Given the description of an element on the screen output the (x, y) to click on. 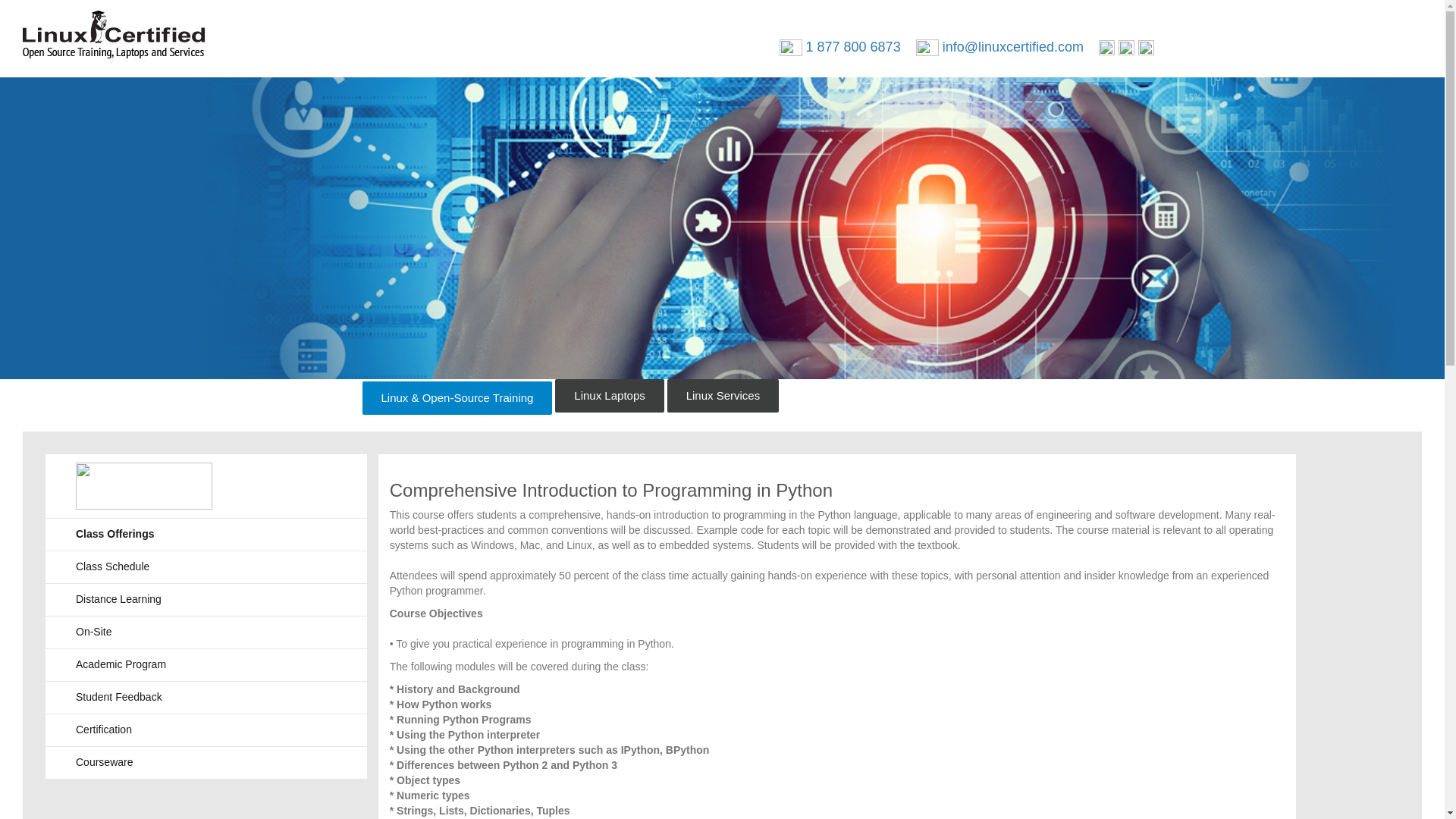
Class Schedule (112, 566)
Class Offerings (114, 534)
Linux Laptops (608, 395)
Academic Program (120, 664)
Student Feedback (118, 697)
Distance Learning (118, 599)
1 877 800 6873 (853, 47)
On-Site (93, 631)
Courseware (103, 762)
Certification (103, 729)
